Given the description of an element on the screen output the (x, y) to click on. 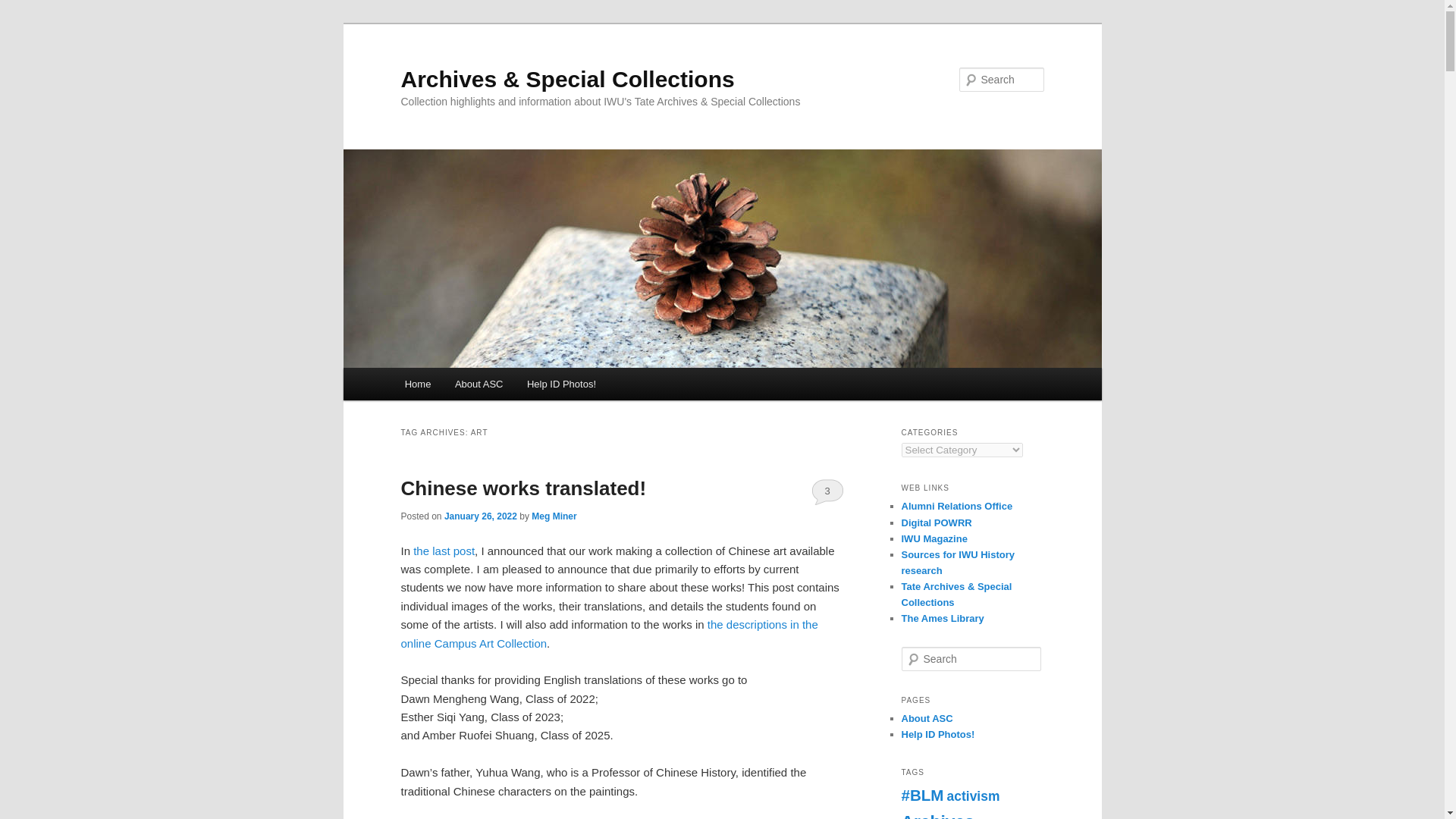
5:28 pm (480, 516)
Help ID Photos! (561, 383)
Meg Miner (553, 516)
Home (417, 383)
the last post (443, 550)
Chinese works translated! (523, 487)
3 (827, 491)
View all posts by Meg Miner (553, 516)
Search (24, 8)
About ASC (478, 383)
the descriptions in the online Campus Art Collection (608, 633)
January 26, 2022 (480, 516)
